Given the description of an element on the screen output the (x, y) to click on. 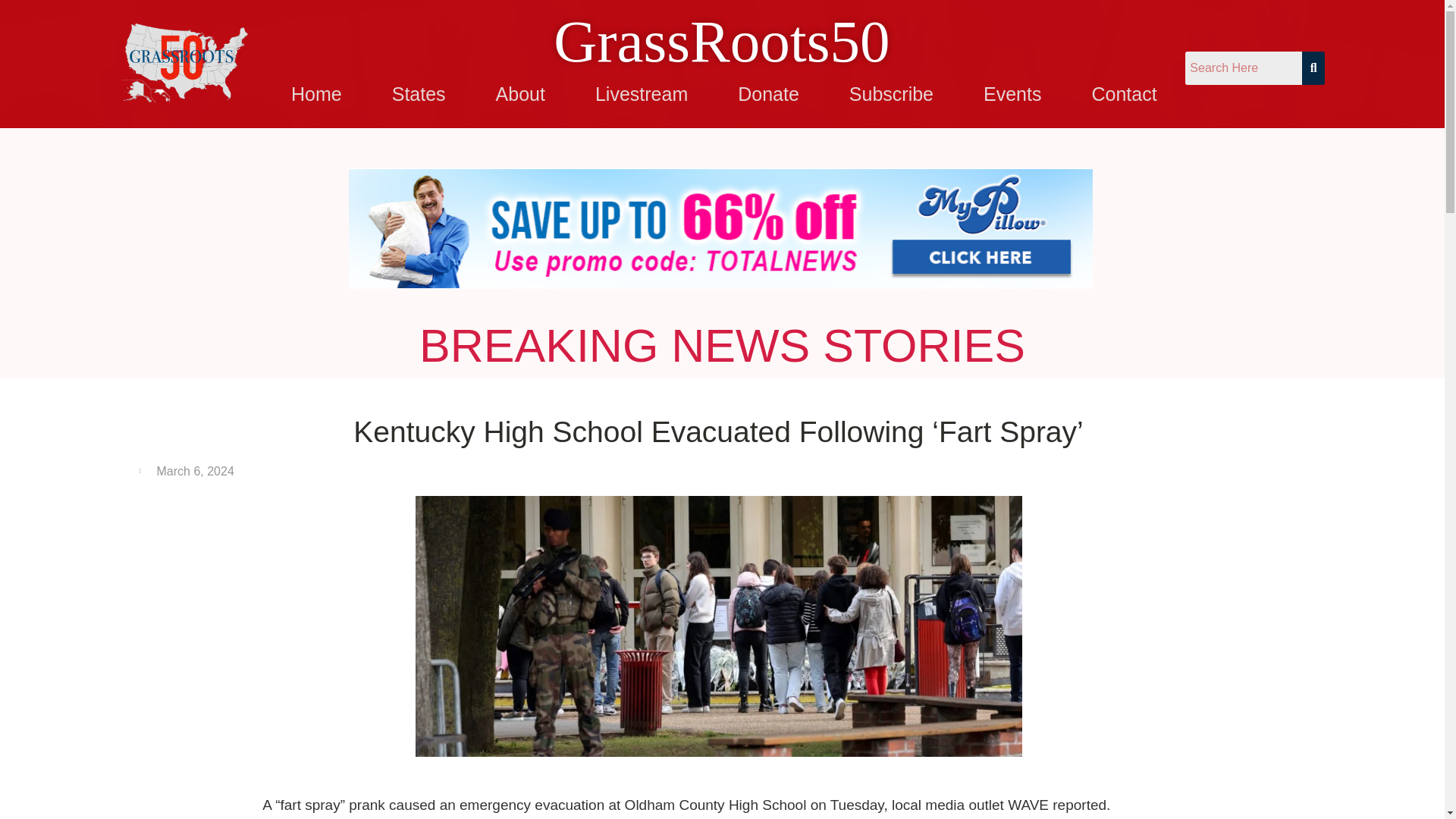
Home (316, 93)
Search (1243, 68)
Donate (767, 93)
Events (1011, 93)
About (520, 93)
Livestream (641, 93)
March 6, 2024 (186, 471)
States (419, 93)
Subscribe (890, 93)
Contact (1123, 93)
